Given the description of an element on the screen output the (x, y) to click on. 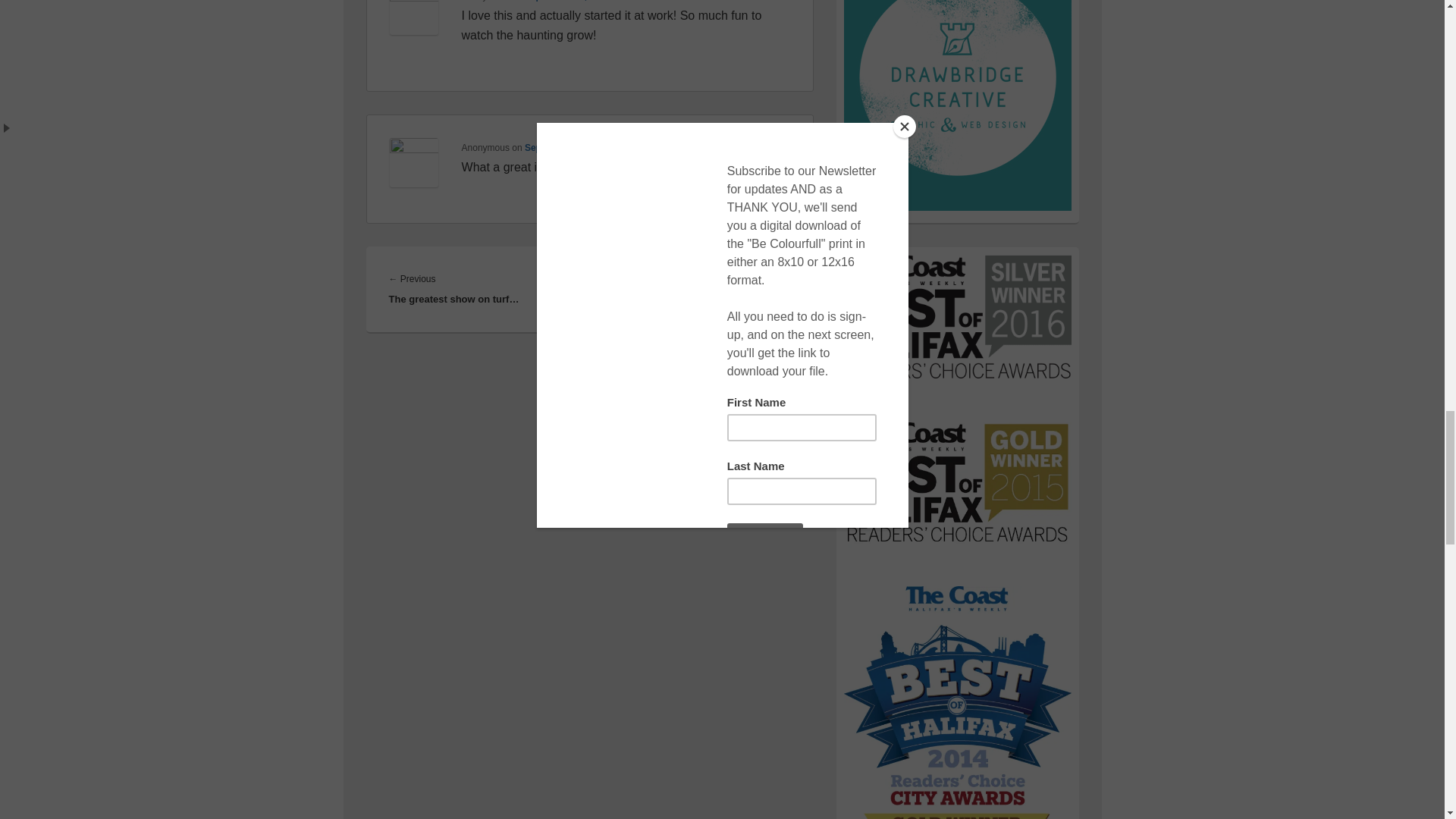
September 29, 2010 at 11:10 pm (593, 147)
September 22, 2010 at 12:05 am (593, 0)
